Given the description of an element on the screen output the (x, y) to click on. 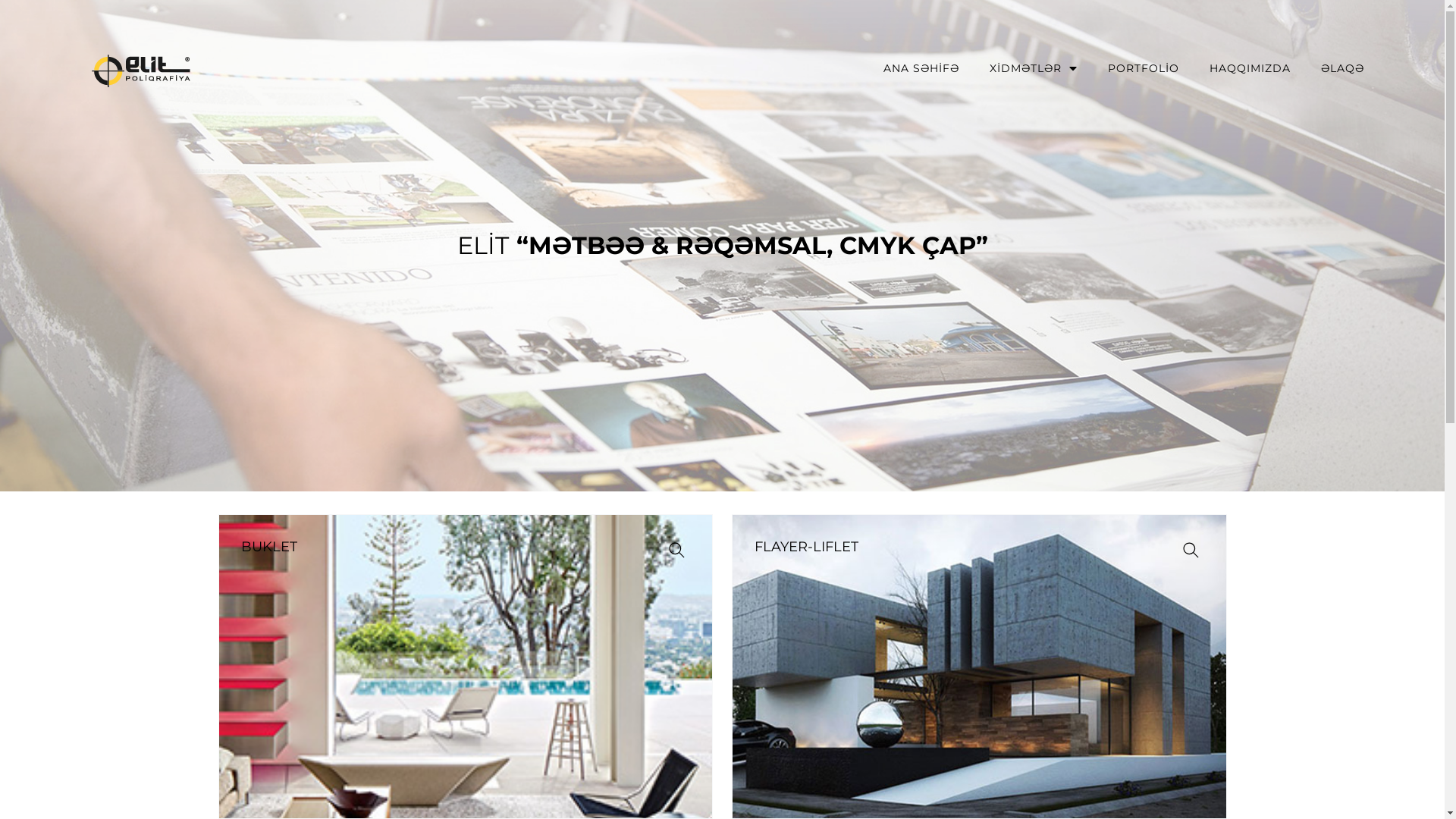
HAQQIMIZDA Element type: text (1249, 67)
